Given the description of an element on the screen output the (x, y) to click on. 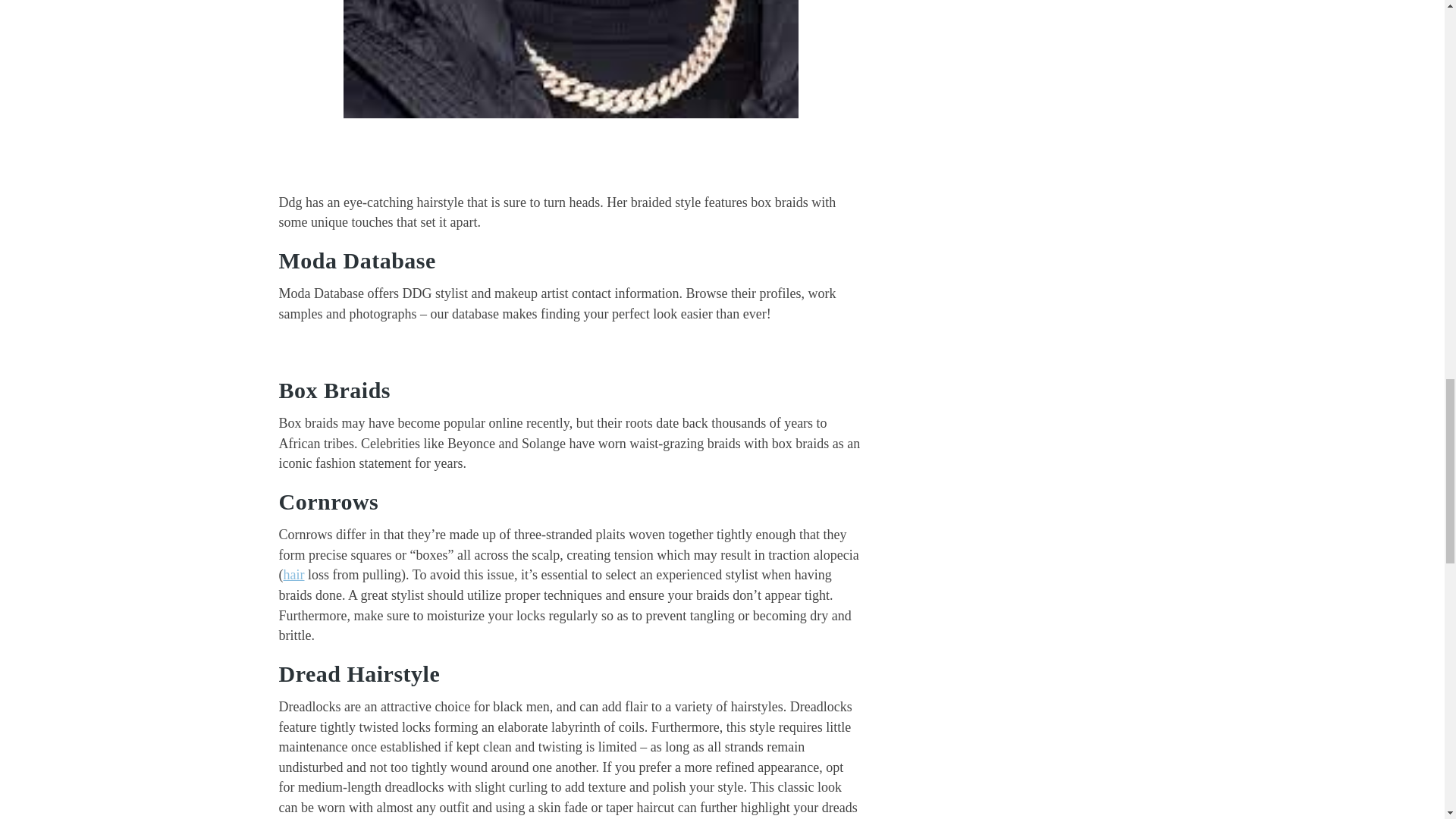
hair (293, 574)
